Given the description of an element on the screen output the (x, y) to click on. 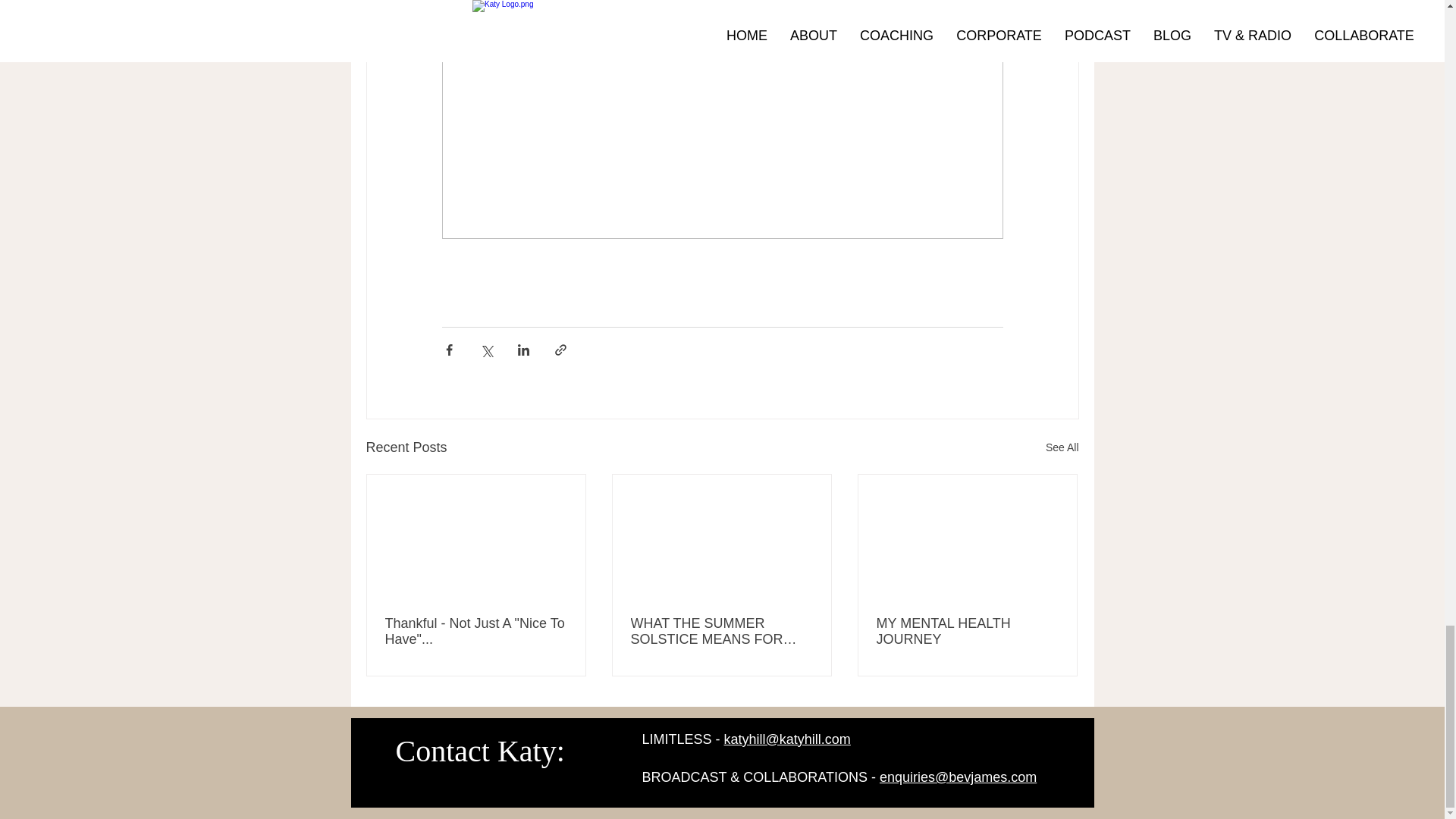
Thankful - Not Just A "Nice To Have"... (476, 631)
MY MENTAL HEALTH JOURNEY (967, 631)
WHAT THE SUMMER SOLSTICE MEANS FOR YOU ... (721, 631)
See All (1061, 447)
